Given the description of an element on the screen output the (x, y) to click on. 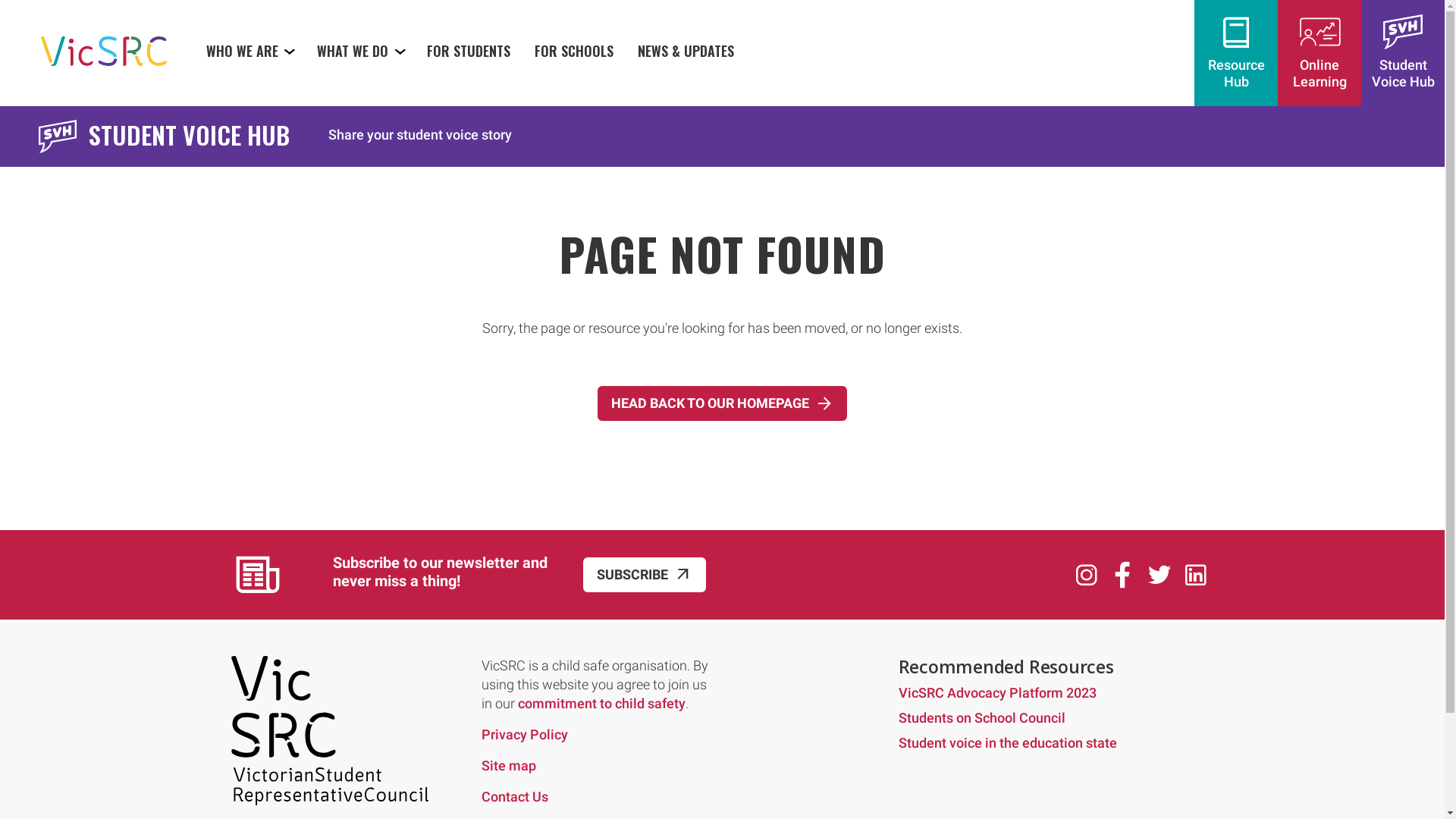
WHO WE ARE Element type: text (249, 49)
Site map Element type: text (507, 765)
Student voice in the education state Element type: text (1006, 742)
Share your student voice story Element type: text (420, 133)
SUBSCRIBE Element type: text (643, 574)
FOR STUDENTS Element type: text (469, 49)
NEWS & UPDATES Element type: text (686, 49)
Privacy Policy Element type: text (523, 734)
Online Learning Element type: text (1319, 53)
HEAD BACK TO OUR HOMEPAGE Element type: text (722, 402)
HEAD BACK TO OUR HOMEPAGE Element type: text (722, 402)
SUBSCRIBE Element type: text (643, 573)
STUDENT VOICE HUB Element type: text (182, 136)
VicSRC Advocacy Platform 2023 Element type: text (996, 692)
commitment to child safety Element type: text (600, 703)
Contact Us Element type: text (513, 796)
Students on School Council Element type: text (980, 717)
Resource Hub Element type: text (1235, 53)
Student Voice Hub Element type: text (1402, 53)
WHAT WE DO Element type: text (360, 49)
FOR SCHOOLS Element type: text (574, 49)
